Given the description of an element on the screen output the (x, y) to click on. 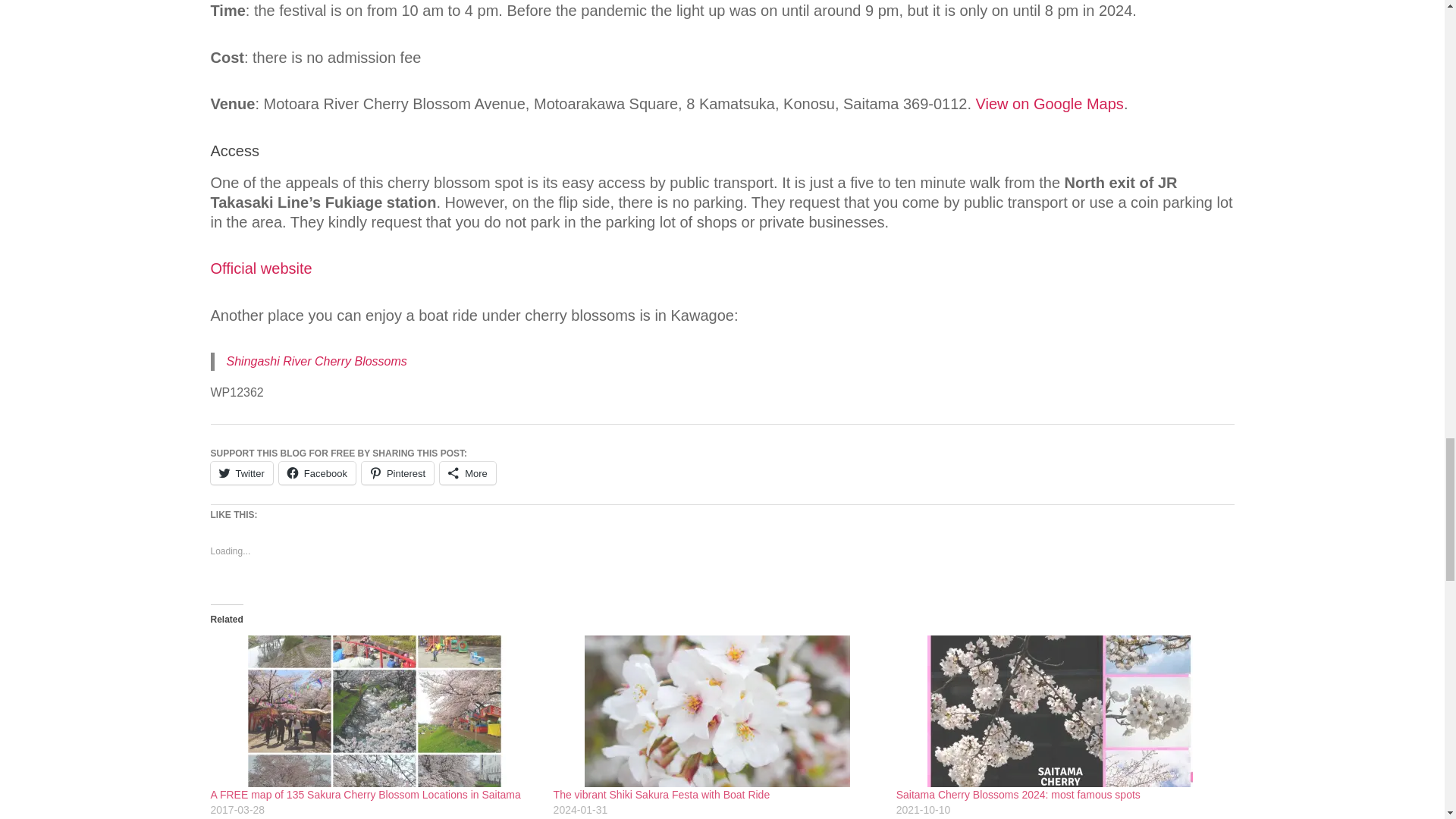
Click to share on Pinterest (397, 472)
Click to share on Twitter (242, 472)
Click to share on Facebook (317, 472)
